Given the description of an element on the screen output the (x, y) to click on. 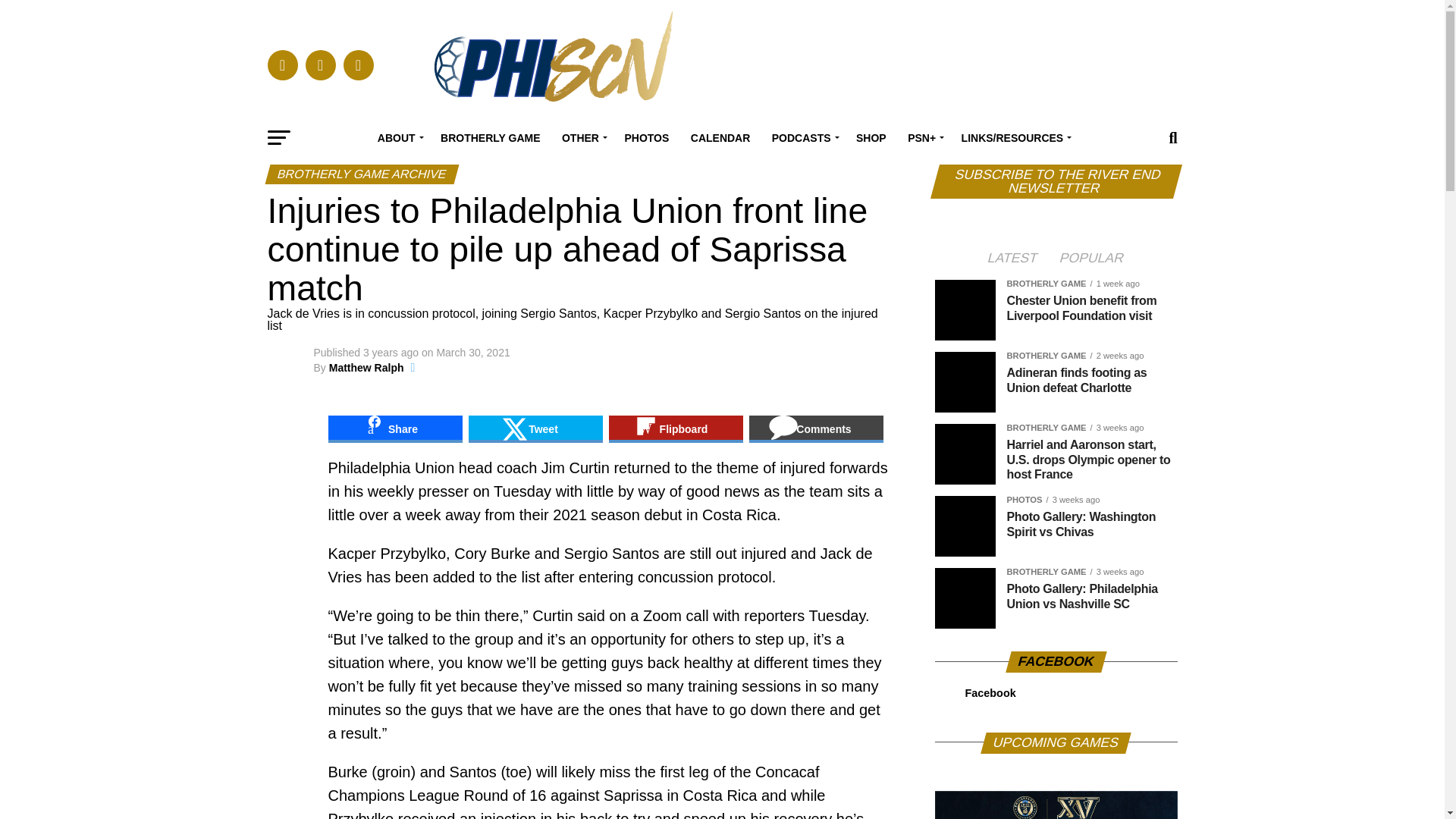
Share on Flipboard (675, 429)
Share on Comments (816, 429)
Posts by Matthew Ralph (366, 367)
Share on Share (394, 429)
Share on Tweet (535, 429)
